Given the description of an element on the screen output the (x, y) to click on. 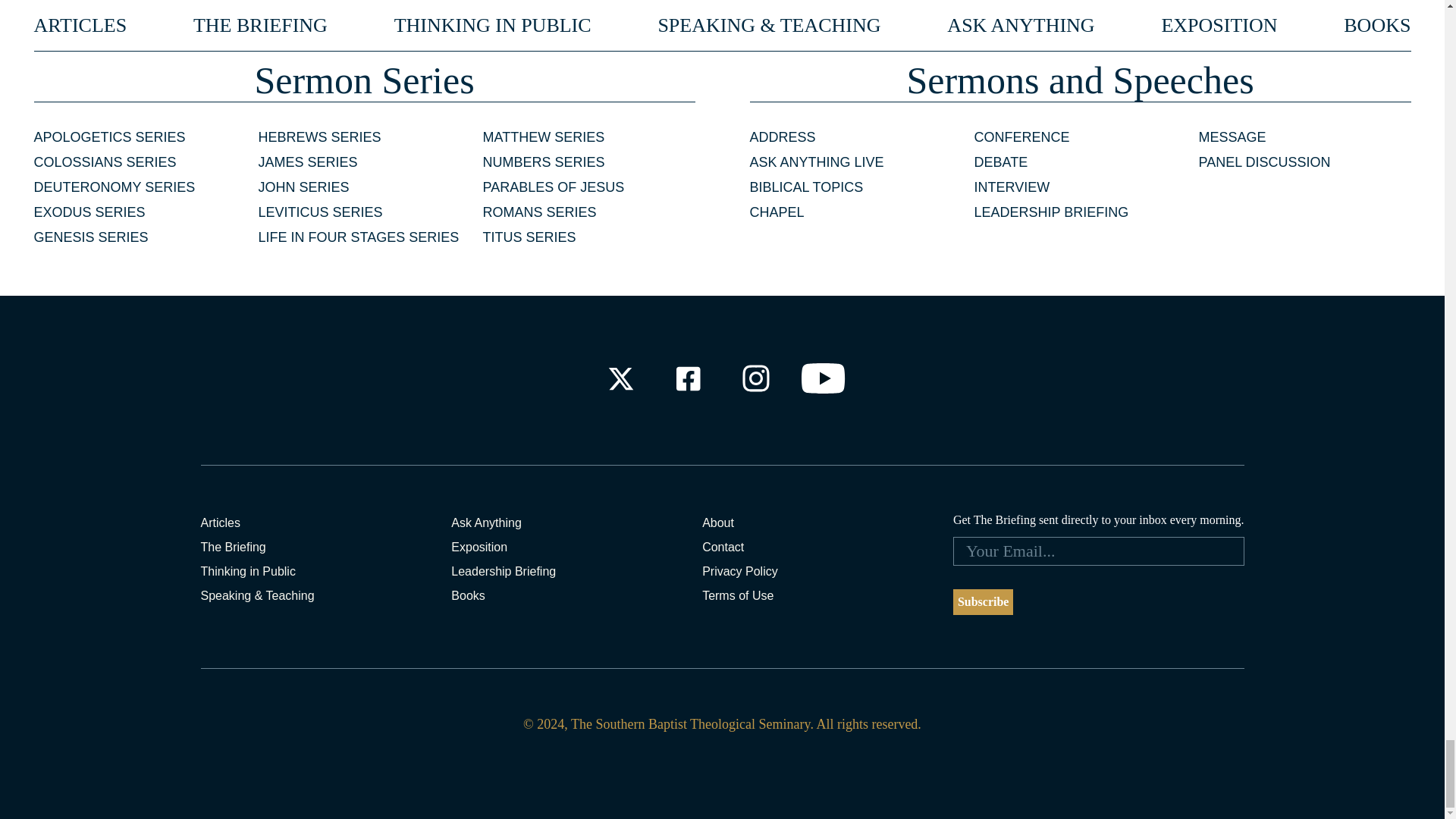
Check out our Instagram Profile (755, 378)
Check out our X Profile (620, 378)
Subscribe (983, 601)
Check out our Youtube Channel (822, 378)
Check out our Facebook Profile (687, 378)
